Given the description of an element on the screen output the (x, y) to click on. 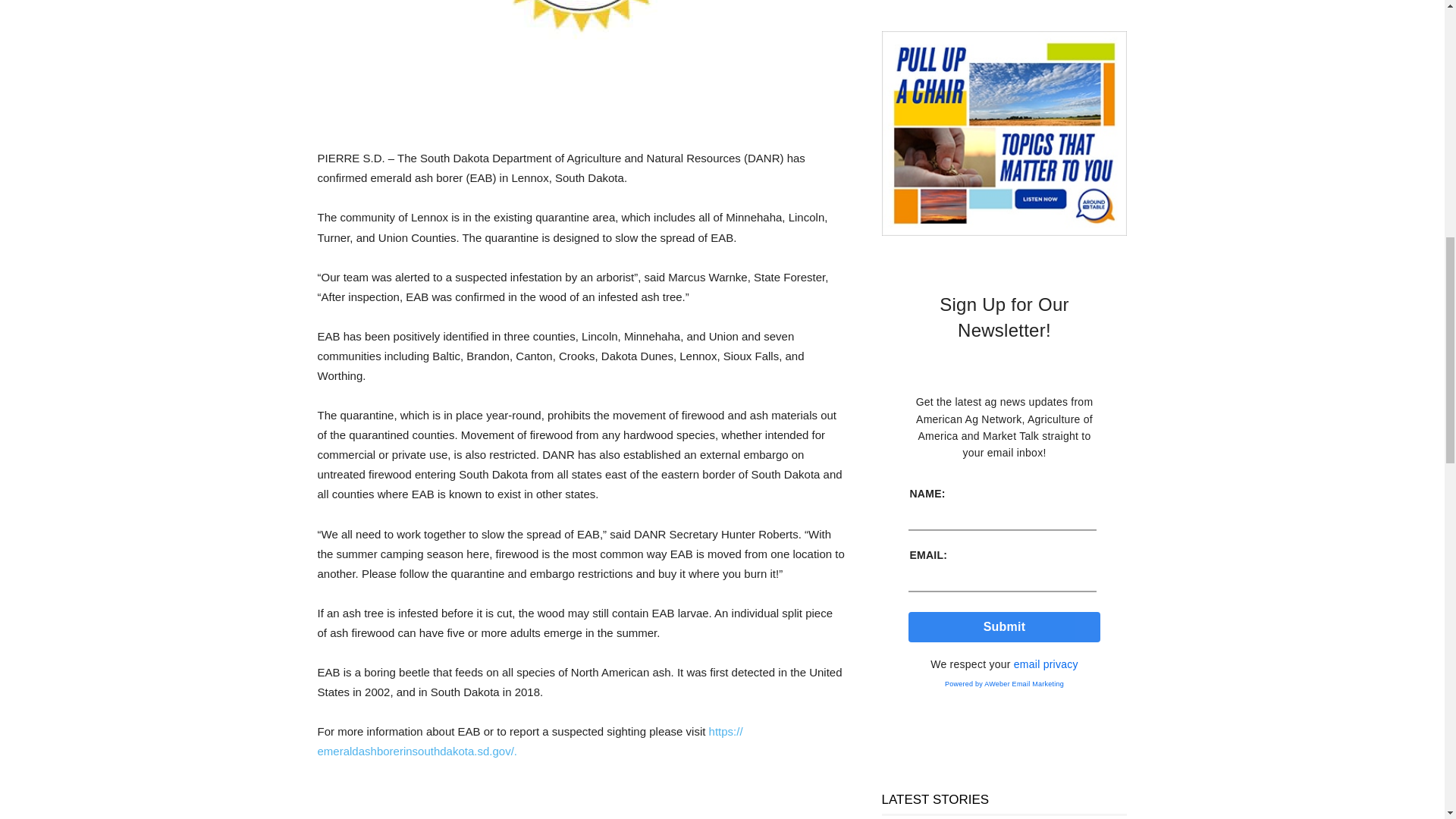
SD DANR Logo (580, 56)
Submit (1004, 626)
